Given the description of an element on the screen output the (x, y) to click on. 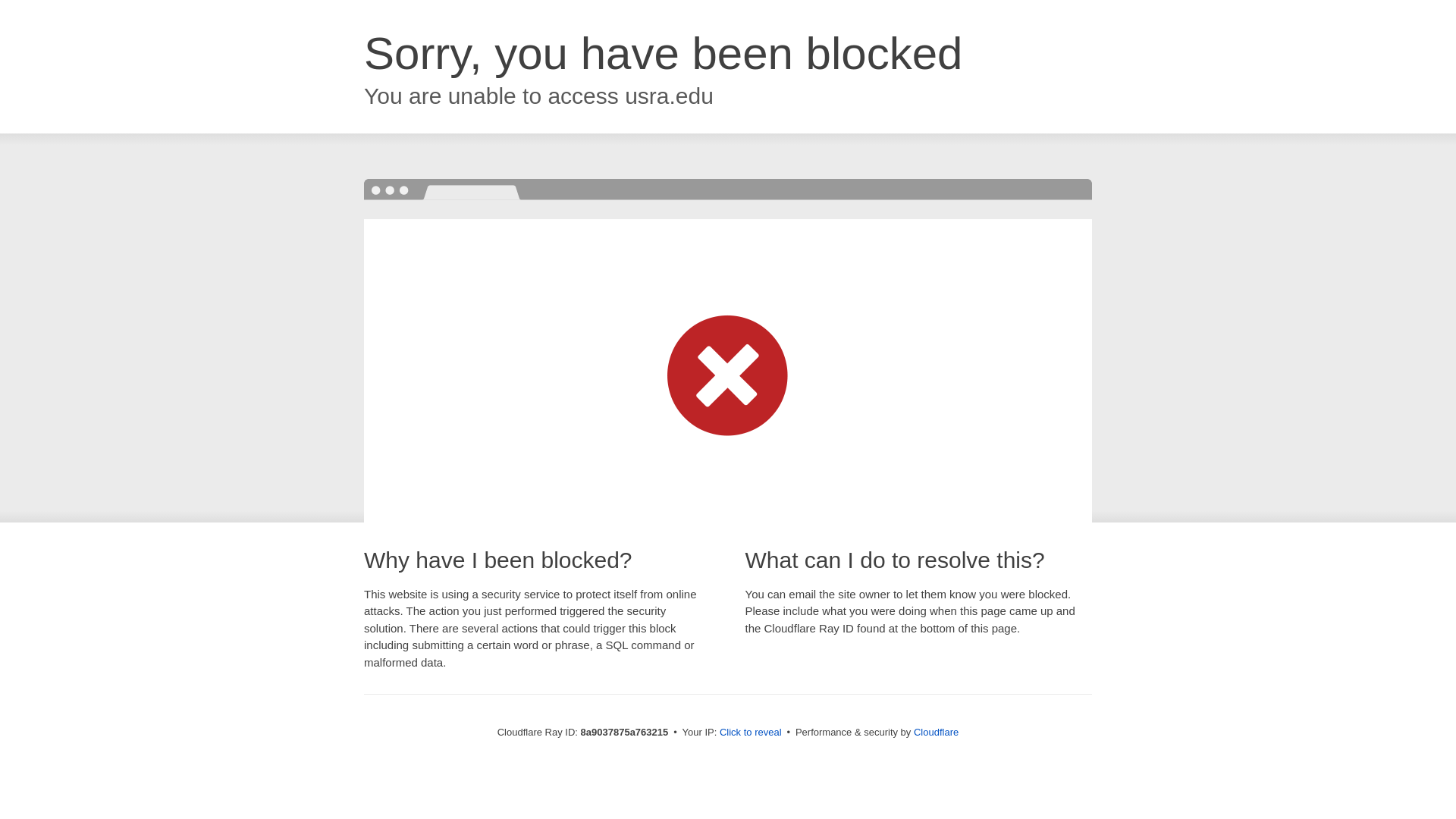
Cloudflare (936, 731)
Click to reveal (750, 732)
